Given the description of an element on the screen output the (x, y) to click on. 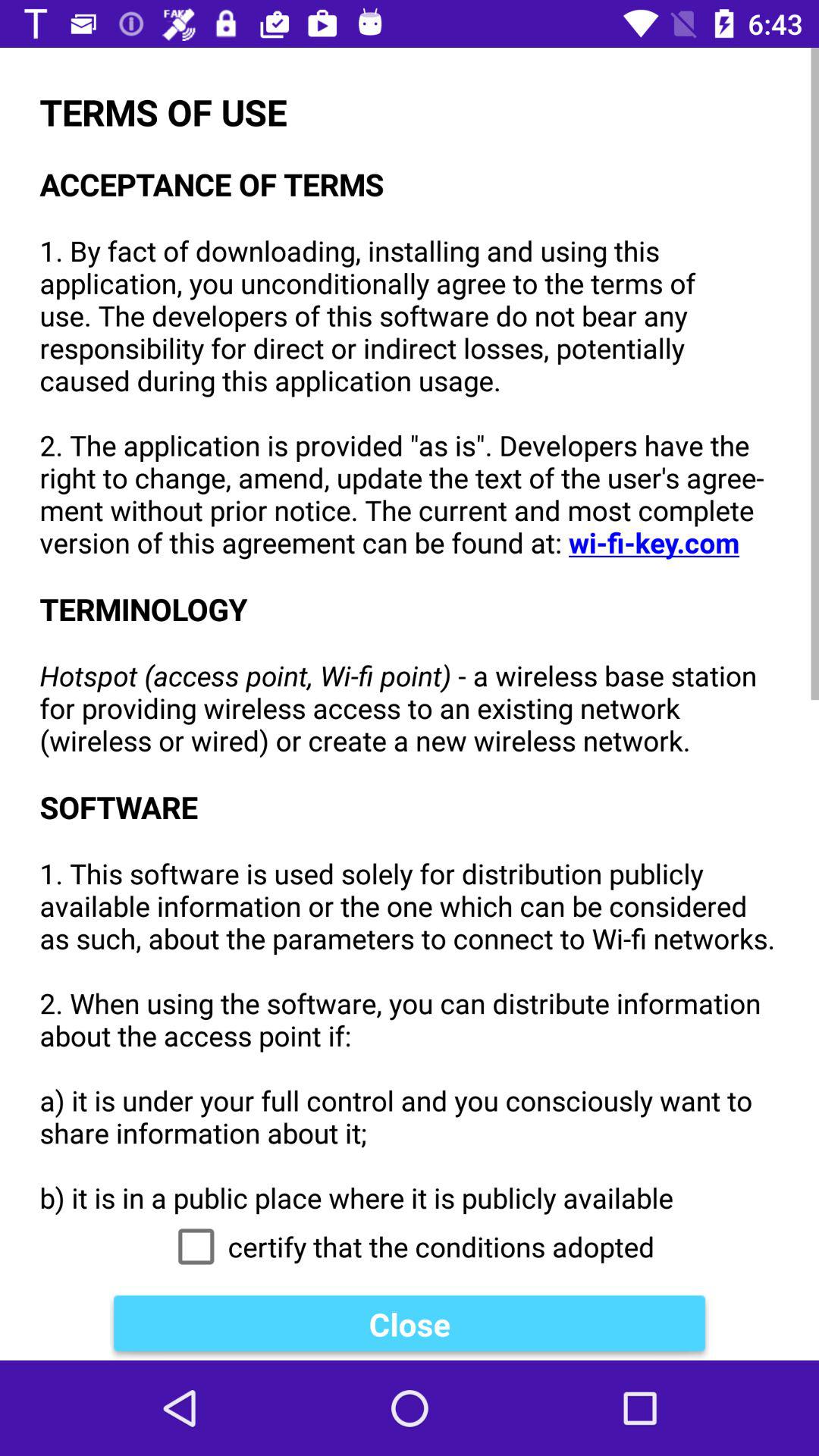
tap icon at the center (409, 630)
